Given the description of an element on the screen output the (x, y) to click on. 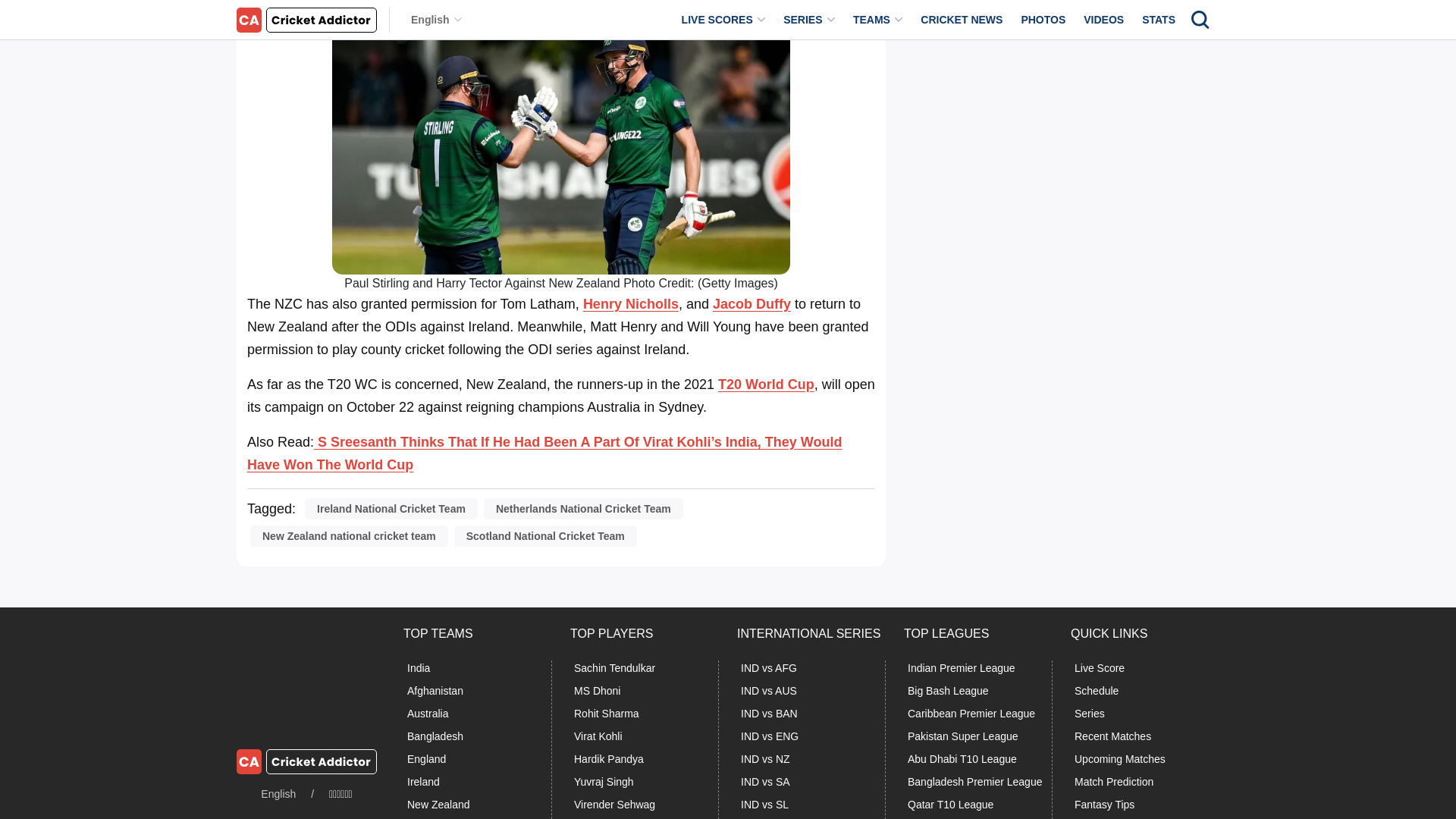
Jacob Duffy (751, 304)
T20 World Cup (765, 384)
Henry Nicholls (630, 304)
